Given the description of an element on the screen output the (x, y) to click on. 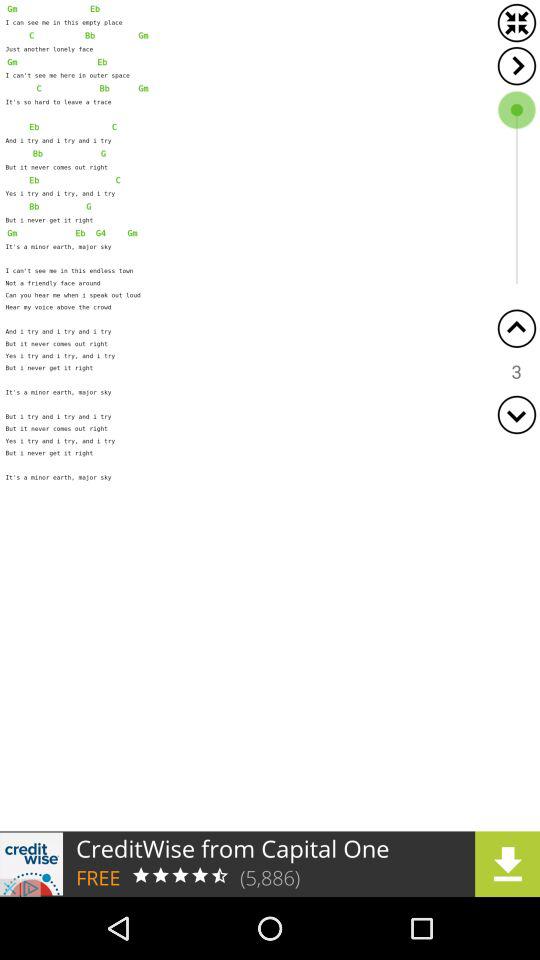
app advertisement (270, 864)
